Given the description of an element on the screen output the (x, y) to click on. 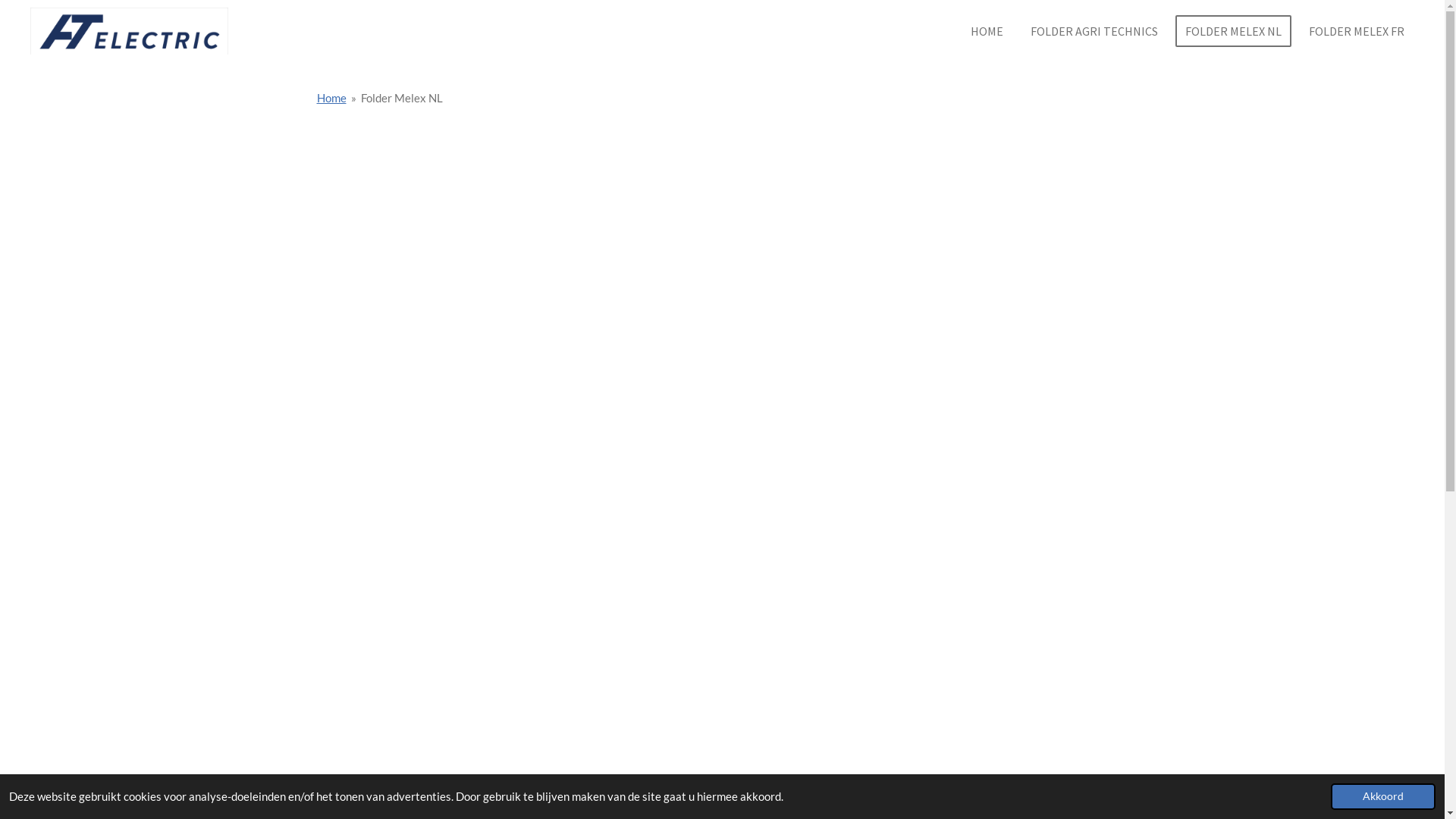
FOLDER MELEX NL Element type: text (1233, 31)
HOME Element type: text (986, 31)
Folder Melex NL Element type: text (401, 97)
Agri Technics Element type: hover (129, 30)
Home Element type: text (331, 97)
FOLDER MELEX FR Element type: text (1356, 31)
FOLDER AGRI TECHNICS Element type: text (1093, 31)
Akkoord Element type: text (1382, 796)
